Given the description of an element on the screen output the (x, y) to click on. 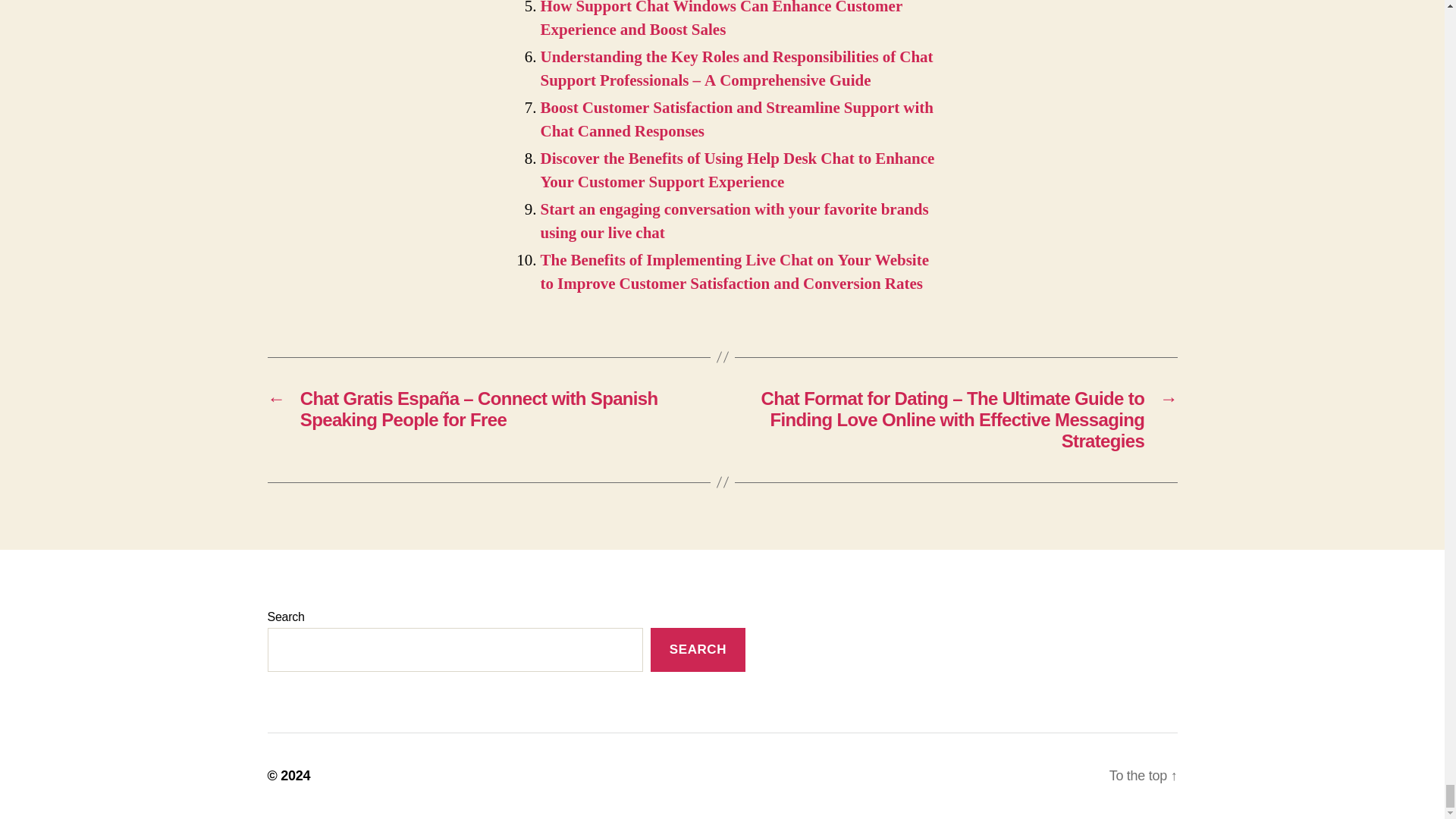
SEARCH (697, 650)
